Given the description of an element on the screen output the (x, y) to click on. 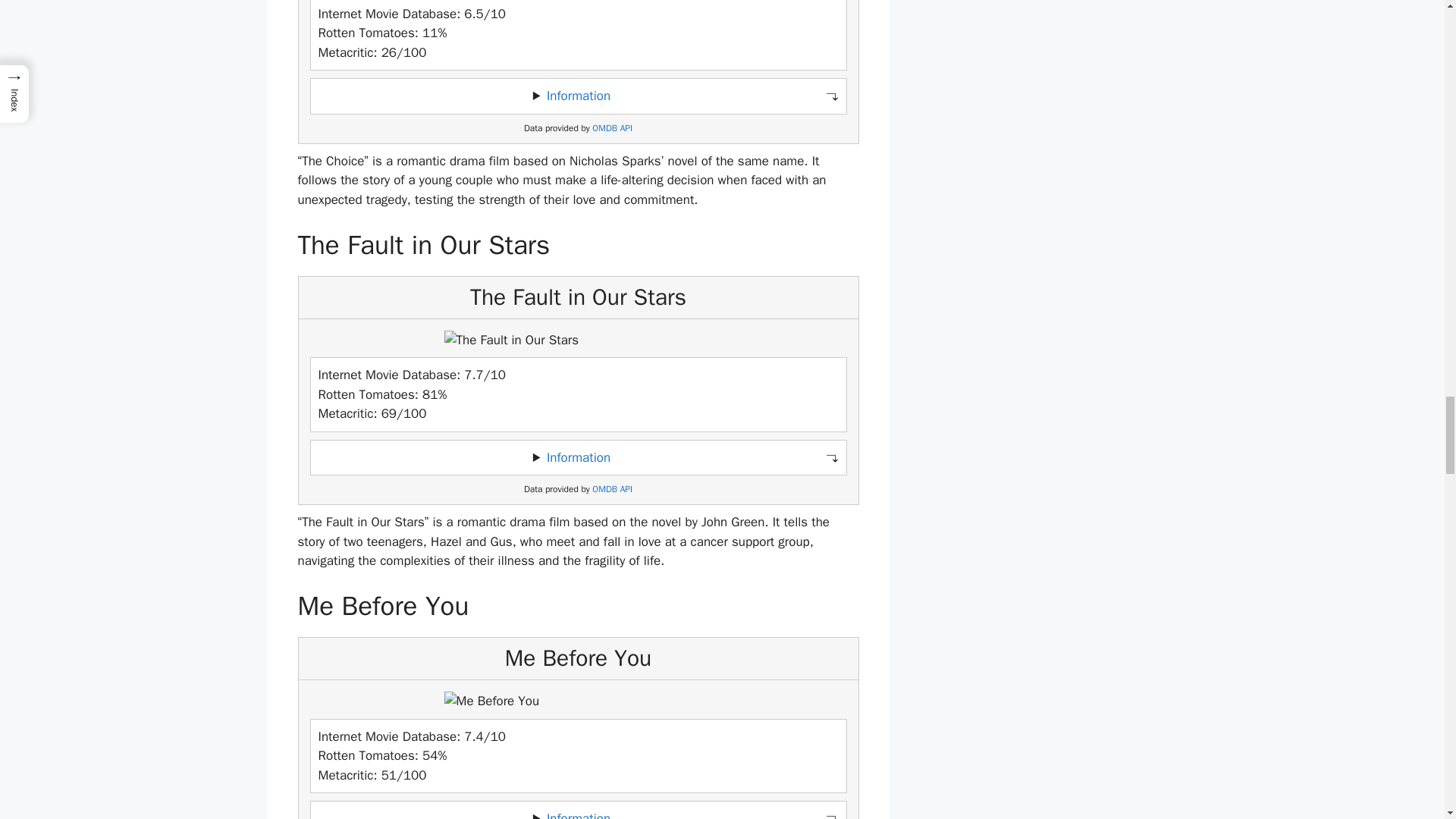
Information (578, 95)
OMDB API (611, 128)
OMDB API (611, 489)
Information (578, 814)
Information (578, 457)
